Given the description of an element on the screen output the (x, y) to click on. 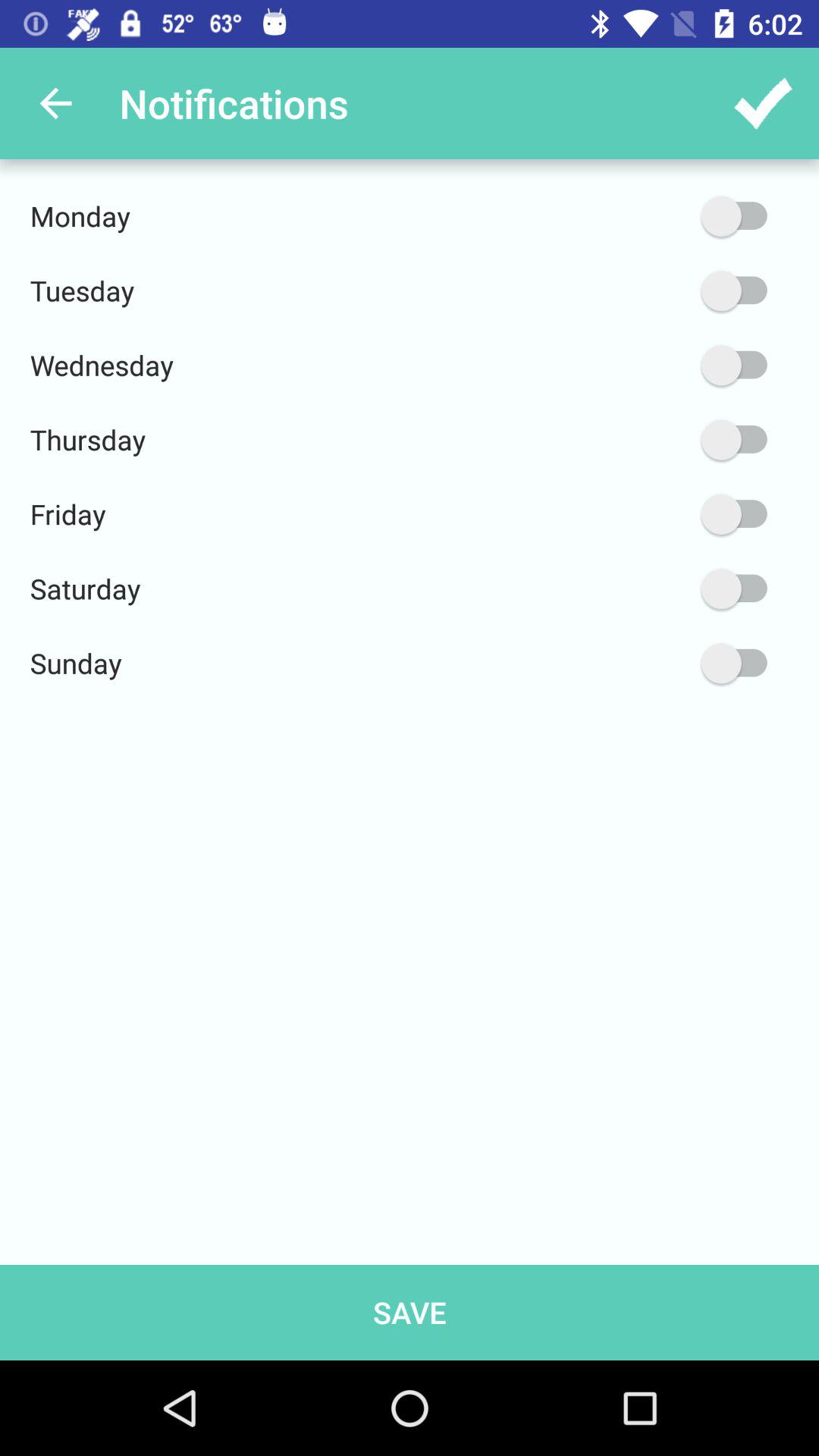
tap icon next to the wednesday (661, 365)
